Given the description of an element on the screen output the (x, y) to click on. 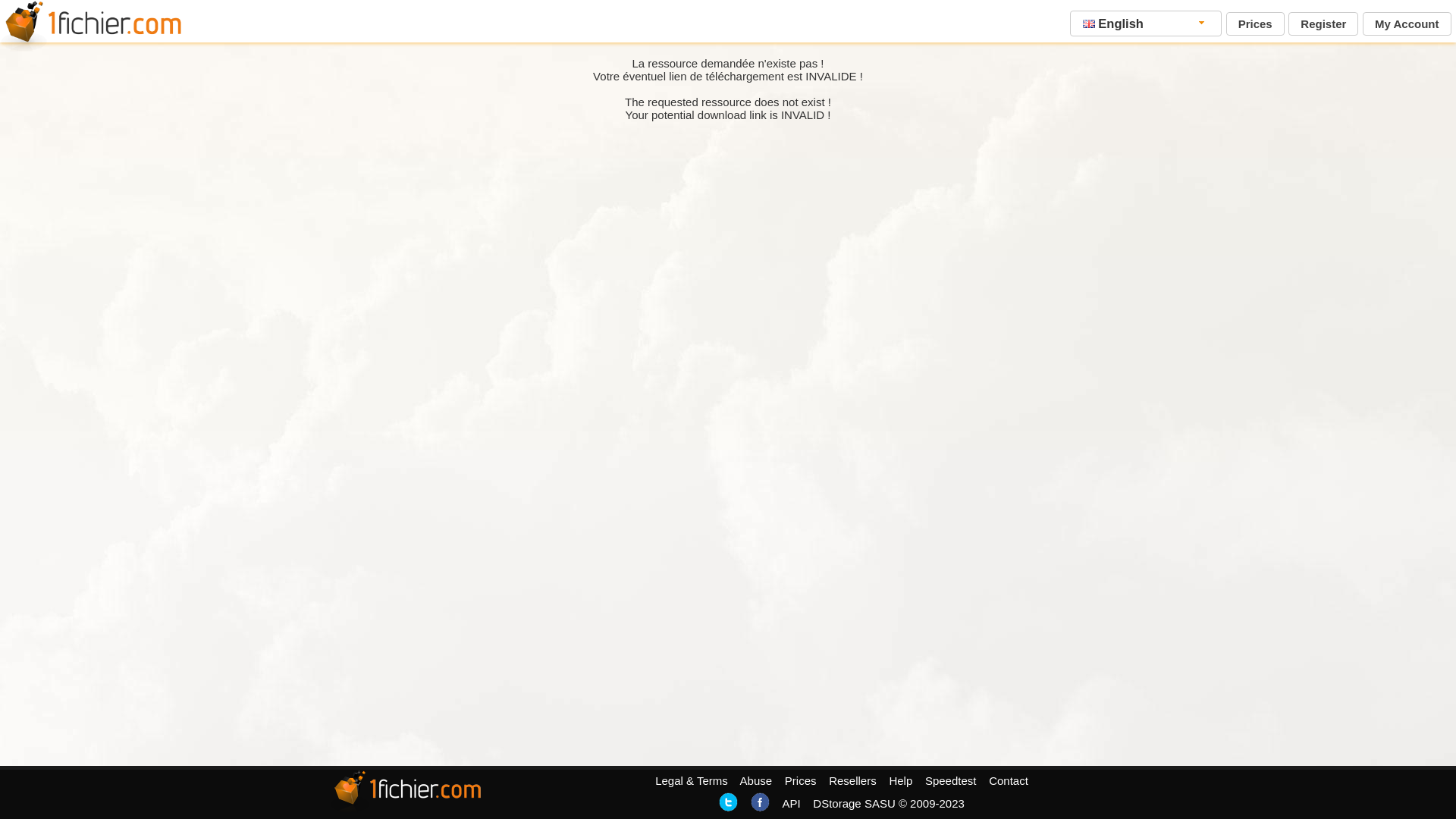
Speedtest Element type: text (950, 780)
Contact Element type: text (1008, 780)
Legal & Terms Element type: text (691, 780)
Prices Element type: text (800, 780)
Register Element type: text (1323, 23)
Help Element type: text (900, 780)
My Account Element type: text (1406, 23)
Abuse Element type: text (756, 780)
Resellers Element type: text (852, 780)
API Element type: text (790, 803)
Prices Element type: text (1255, 23)
